Given the description of an element on the screen output the (x, y) to click on. 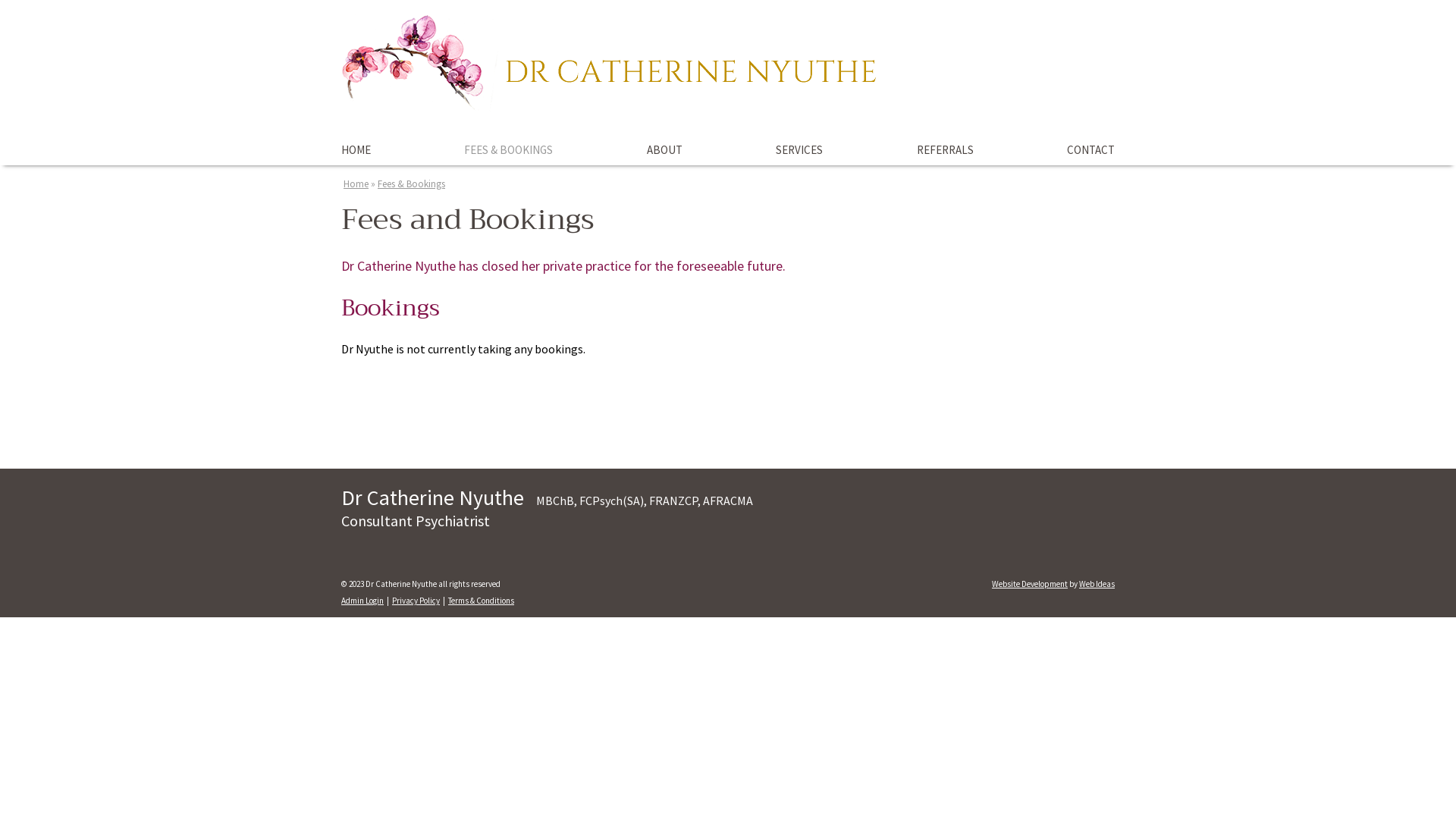
Terms & Conditions Element type: text (481, 600)
HOME Element type: text (361, 149)
SERVICES Element type: text (798, 149)
FEES & BOOKINGS Element type: text (507, 149)
CONTACT Element type: text (1084, 149)
Web Ideas Element type: text (1096, 583)
ABOUT Element type: text (664, 149)
REFERRALS Element type: text (944, 149)
Privacy Policy Element type: text (415, 600)
Home Element type: text (355, 183)
Website Development Element type: text (1029, 583)
Admin Login Element type: text (362, 600)
Fees & Bookings Element type: text (411, 183)
